Given the description of an element on the screen output the (x, y) to click on. 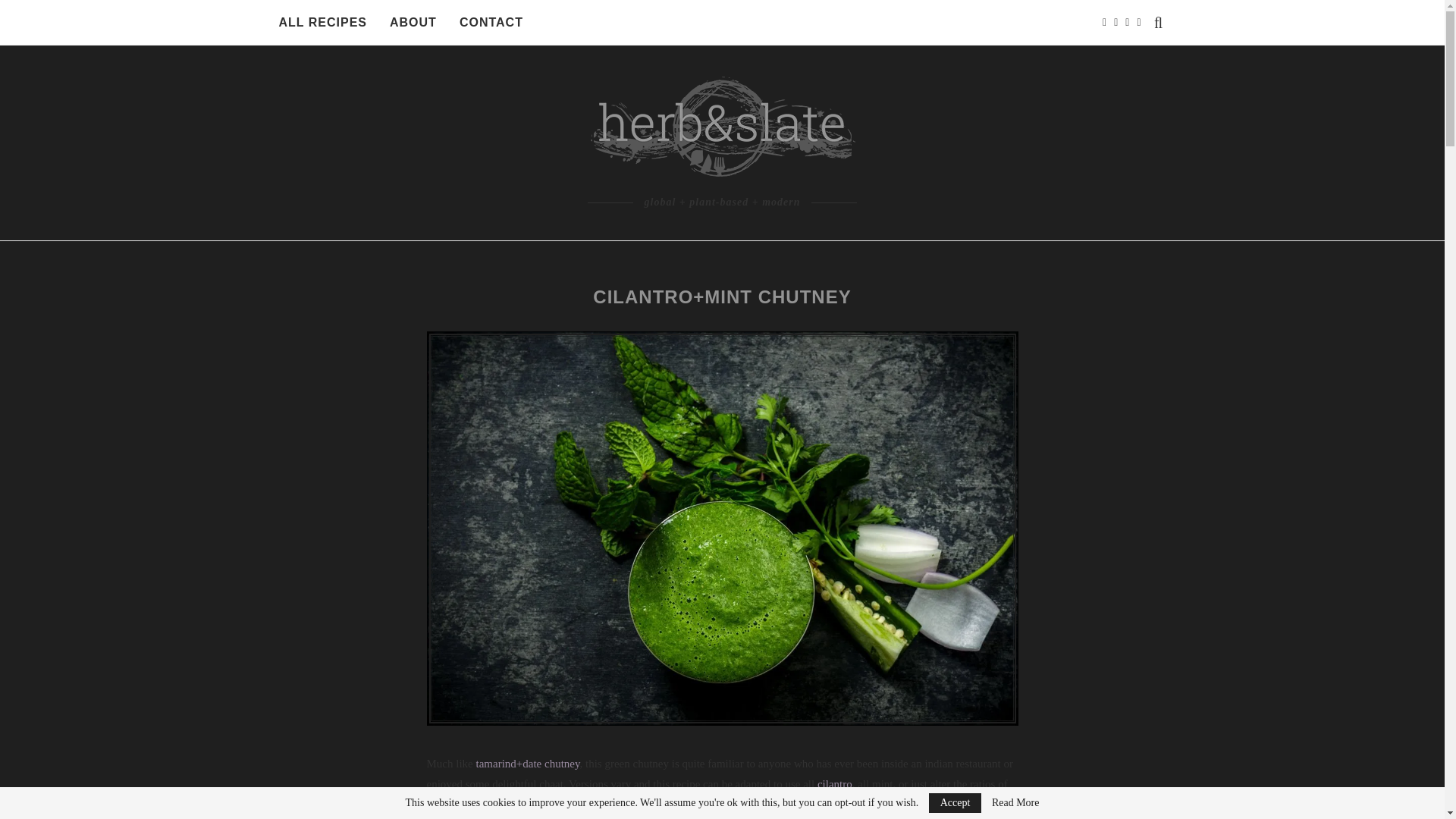
CONTACT (491, 22)
ALL RECIPES (323, 22)
cilantro (833, 784)
ABOUT (413, 22)
